Given the description of an element on the screen output the (x, y) to click on. 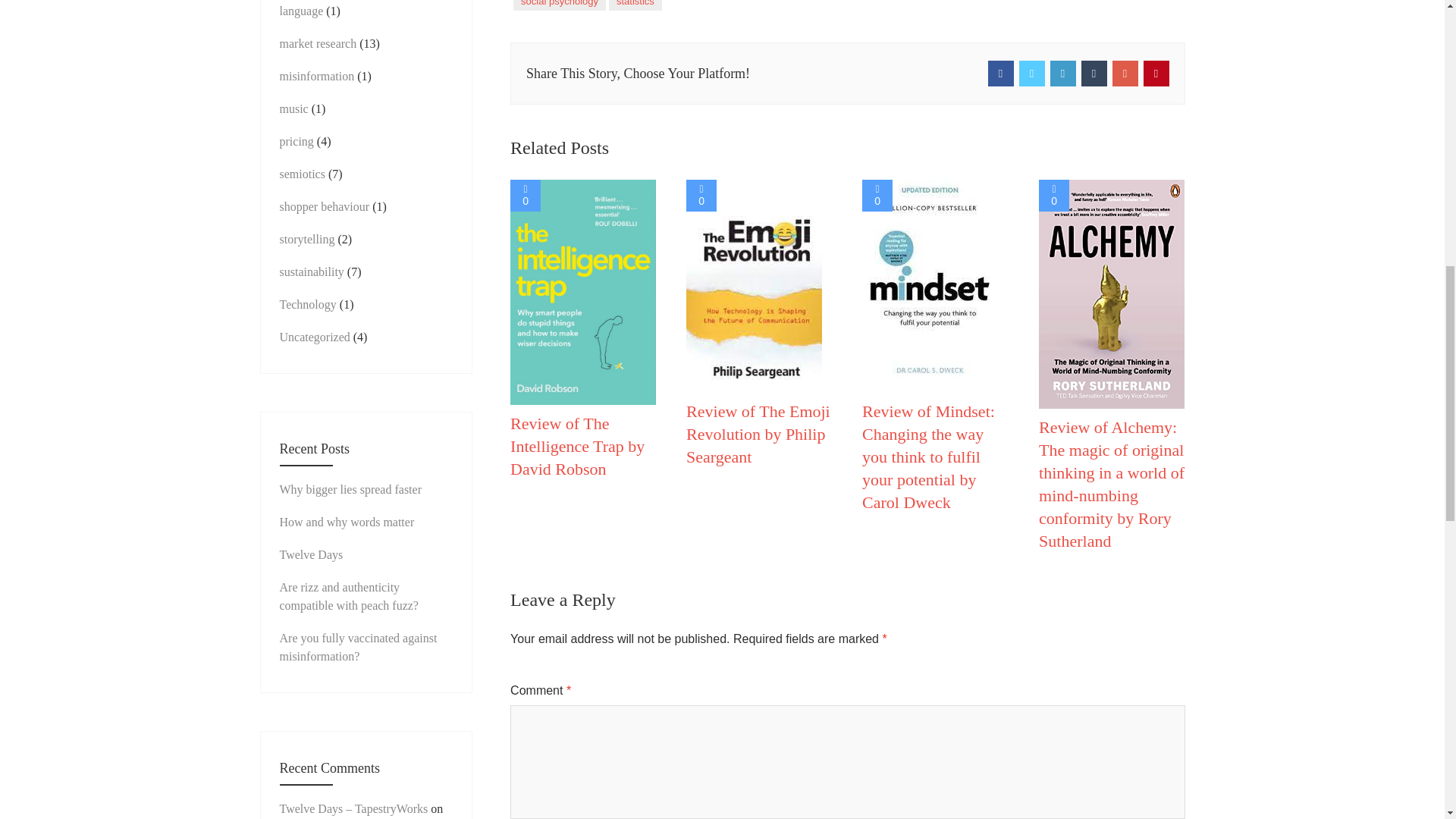
Like this (525, 195)
Like this (876, 195)
Like this (700, 195)
Like this (1053, 195)
